Given the description of an element on the screen output the (x, y) to click on. 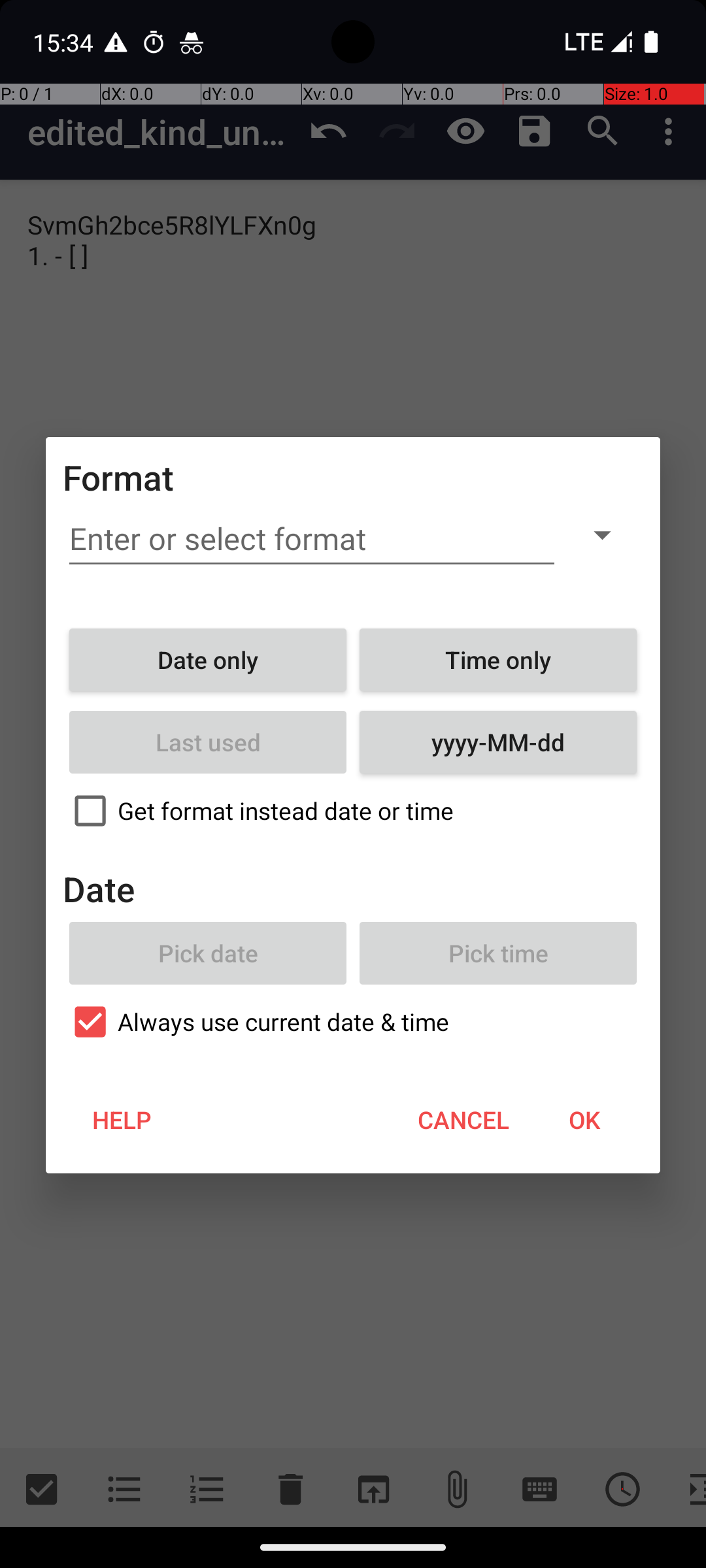
Format Element type: android.widget.TextView (118, 477)
Enter or select format Element type: android.widget.EditText (311, 538)
Date only Element type: android.widget.Button (207, 659)
Time only Element type: android.widget.Button (498, 659)
Last used Element type: android.widget.Button (207, 742)
yyyy-MM-dd Element type: android.widget.Button (498, 742)
Get format instead date or time Element type: android.widget.CheckBox (352, 810)
Pick date Element type: android.widget.Button (207, 953)
Pick time Element type: android.widget.Button (498, 953)
Always use current date & time Element type: android.widget.CheckBox (352, 1021)
HELP Element type: android.widget.Button (121, 1119)
Chrome notification: Incognito Tabs Element type: android.widget.ImageView (191, 41)
